Given the description of an element on the screen output the (x, y) to click on. 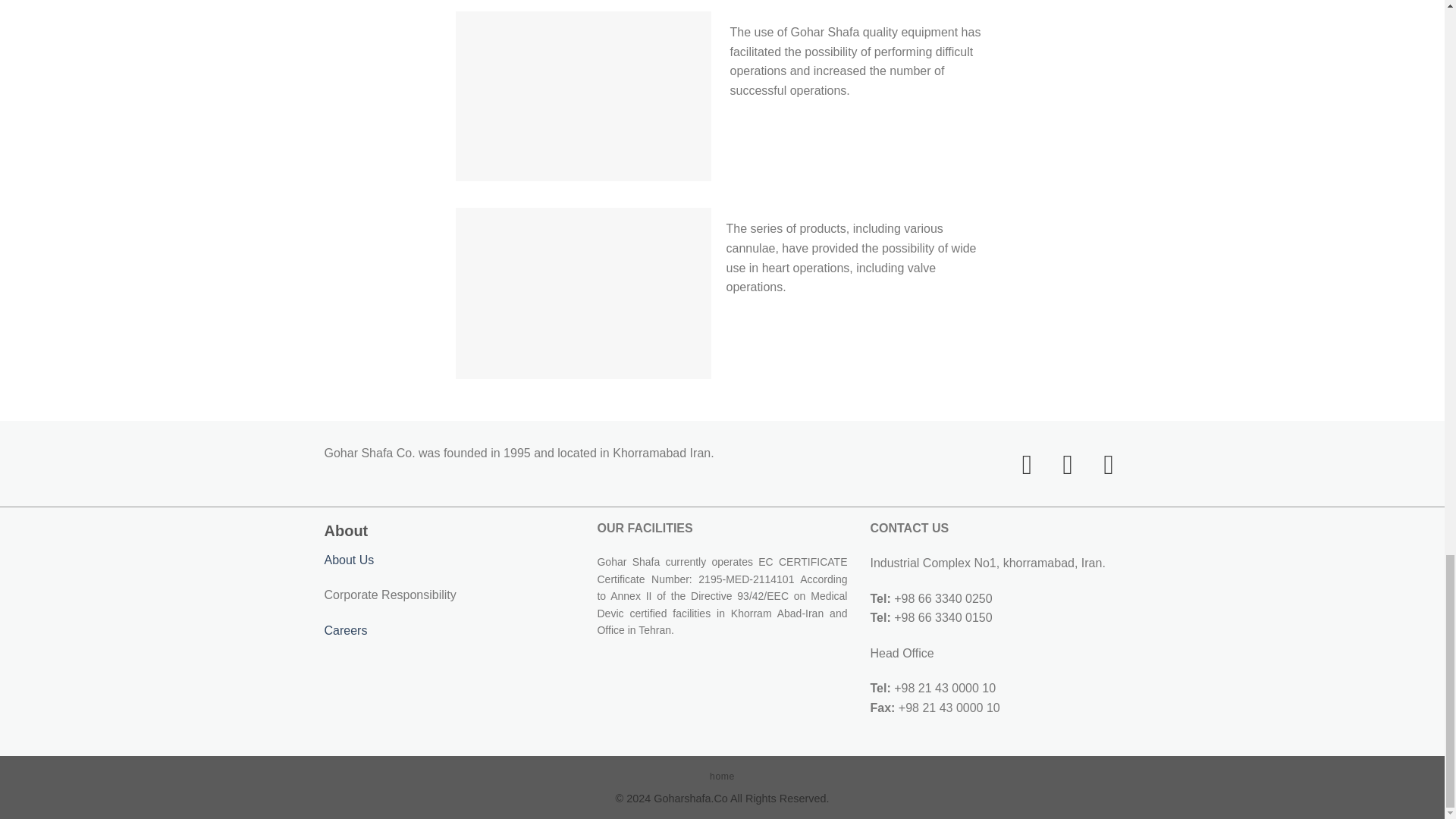
Follow on Twitter (1059, 464)
Follow on Facebook (1018, 464)
Follow on LinkedIn (1099, 464)
About Us (349, 559)
